Given the description of an element on the screen output the (x, y) to click on. 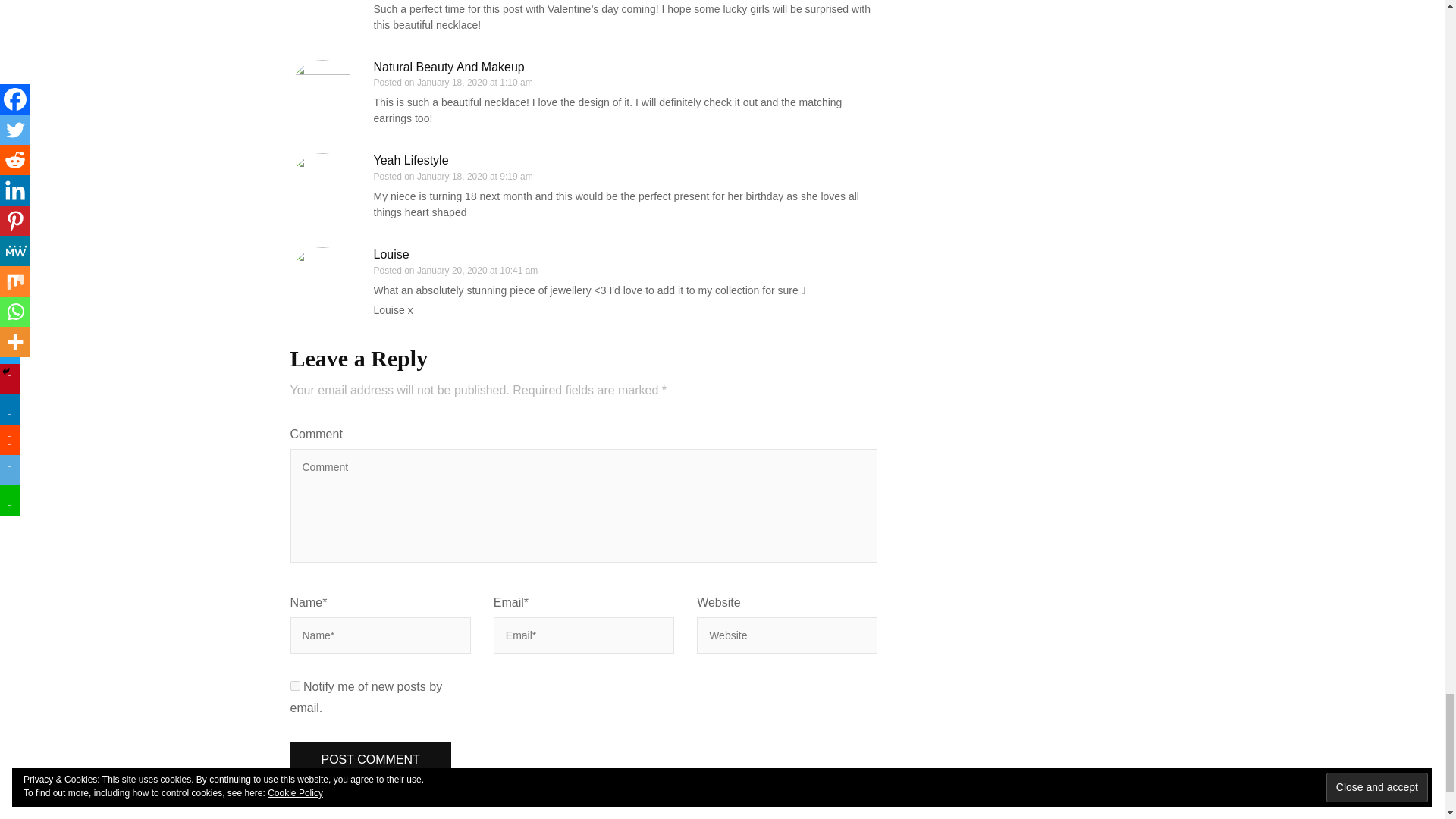
Post Comment (369, 760)
subscribe (294, 685)
